Given the description of an element on the screen output the (x, y) to click on. 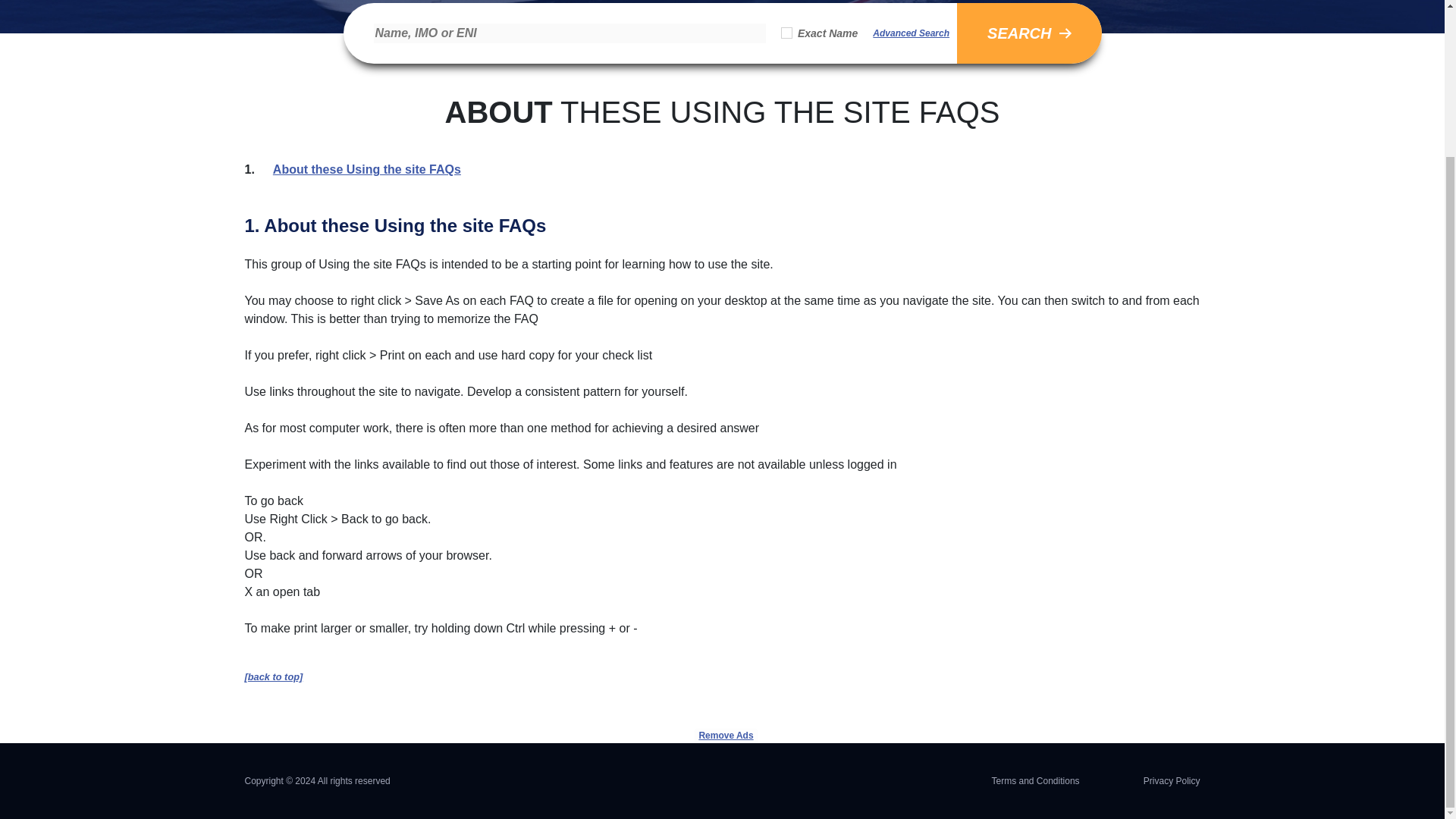
Remove Ads (725, 628)
Advanced Search (910, 33)
About these Using the site FAQs (367, 169)
Privacy Policy (1170, 780)
Terms and Conditions (1035, 780)
